Given the description of an element on the screen output the (x, y) to click on. 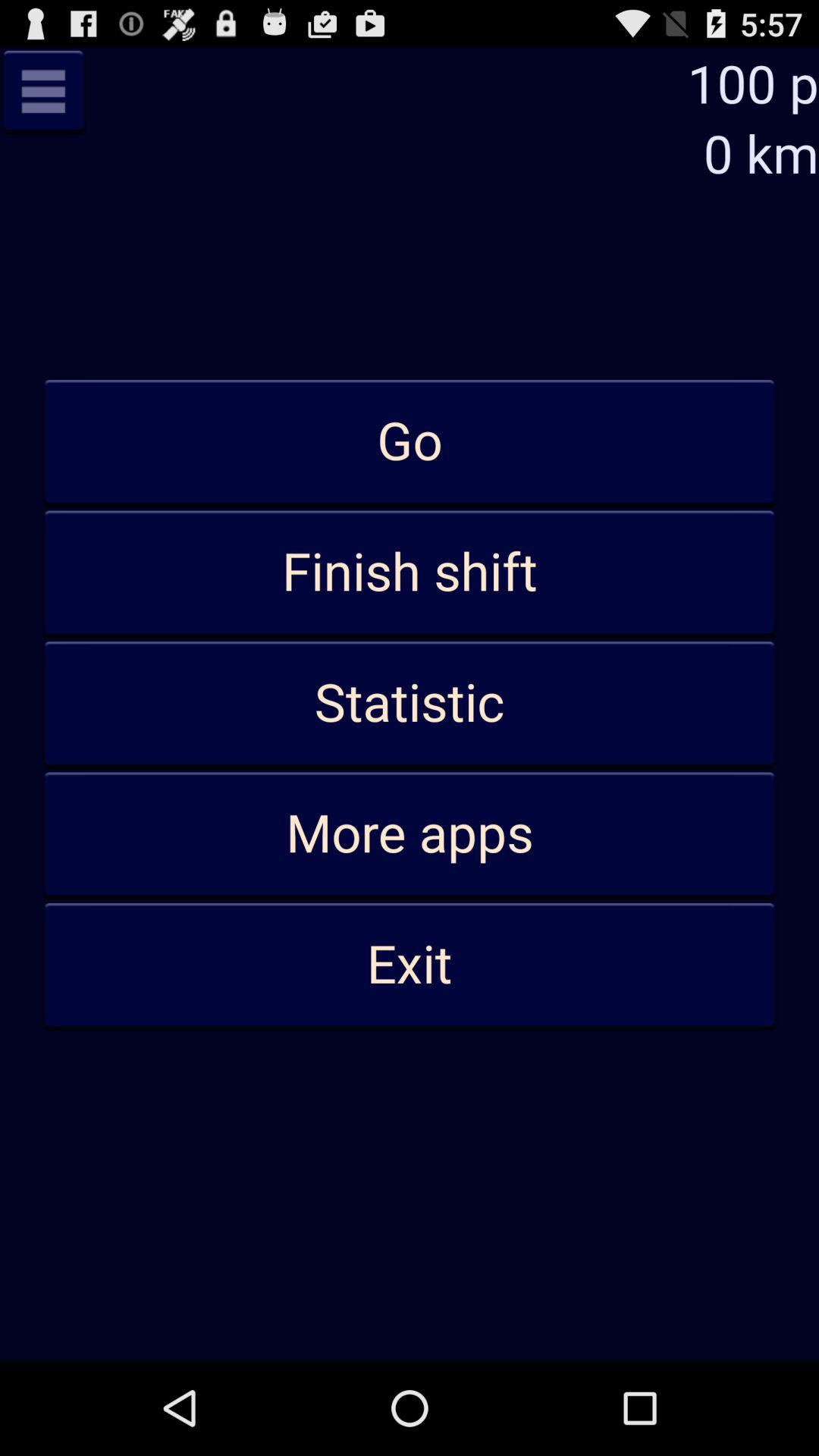
choose the icon at the top left corner (43, 90)
